Given the description of an element on the screen output the (x, y) to click on. 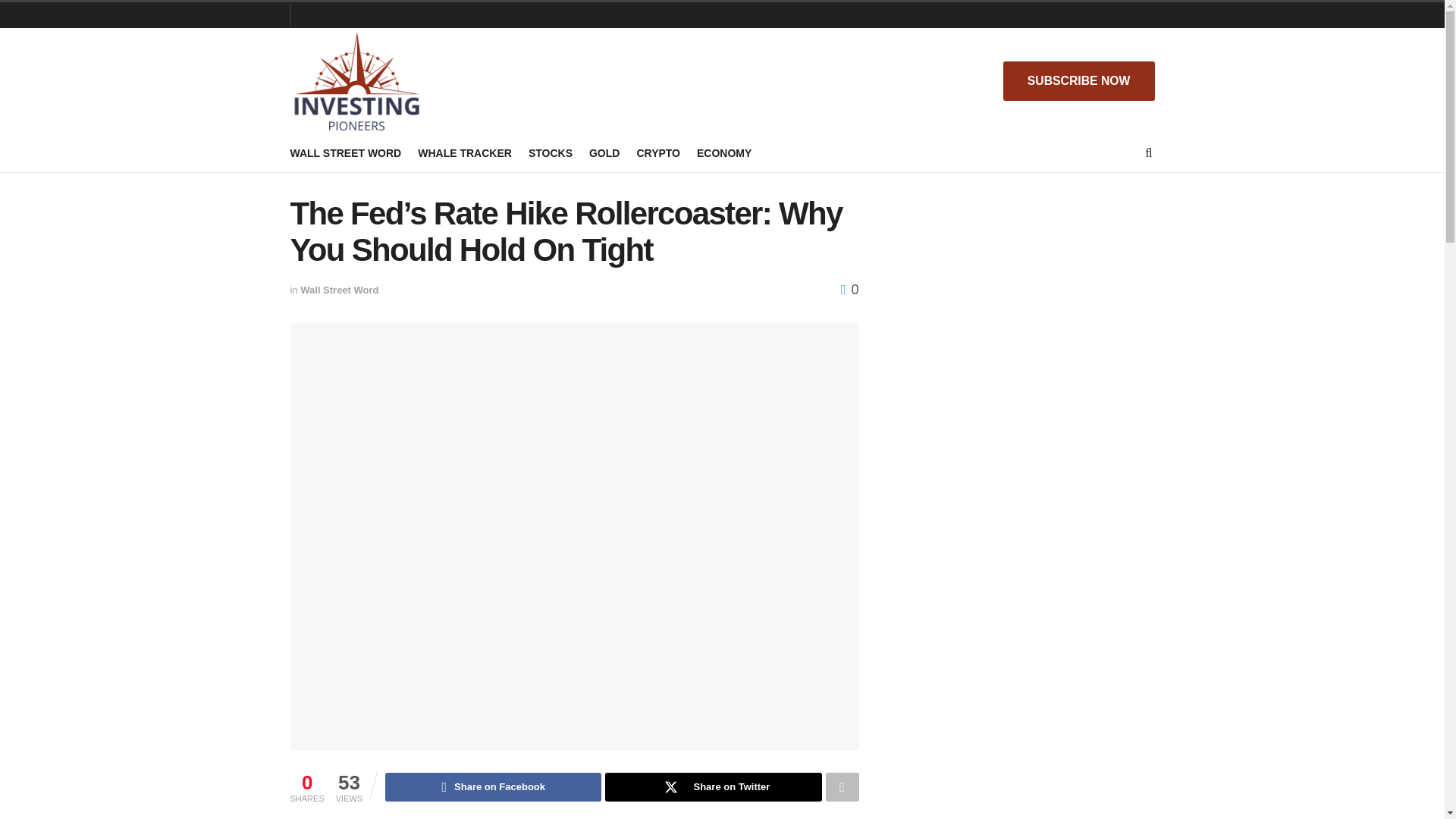
WHALE TRACKER (464, 152)
0 (850, 289)
SUBSCRIBE NOW (1078, 80)
GOLD (604, 152)
WALL STREET WORD (345, 152)
Share on Twitter (713, 787)
ECONOMY (724, 152)
STOCKS (550, 152)
CRYPTO (657, 152)
Wall Street Word (338, 289)
